Given the description of an element on the screen output the (x, y) to click on. 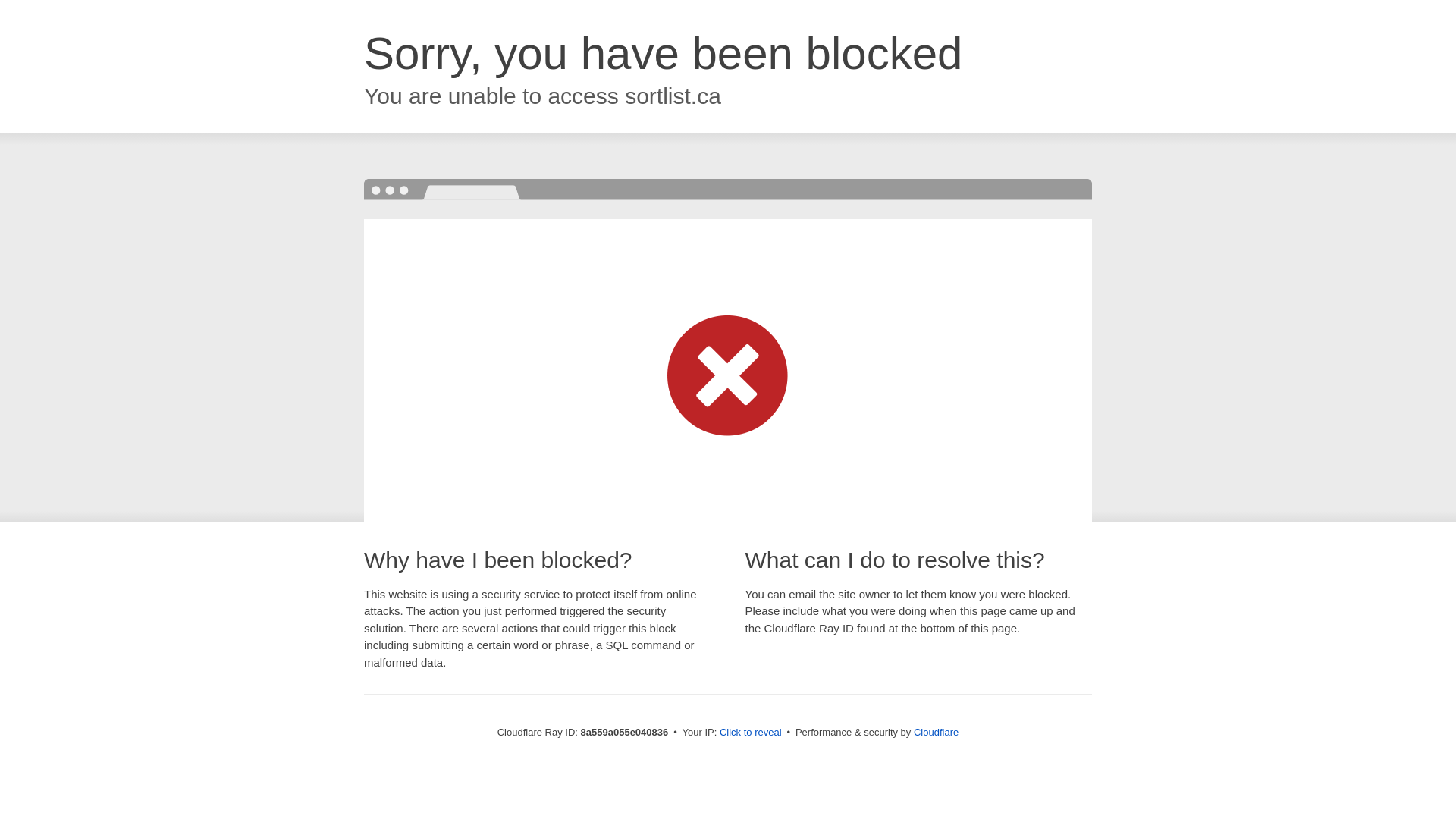
Cloudflare (936, 731)
Click to reveal (750, 732)
